Given the description of an element on the screen output the (x, y) to click on. 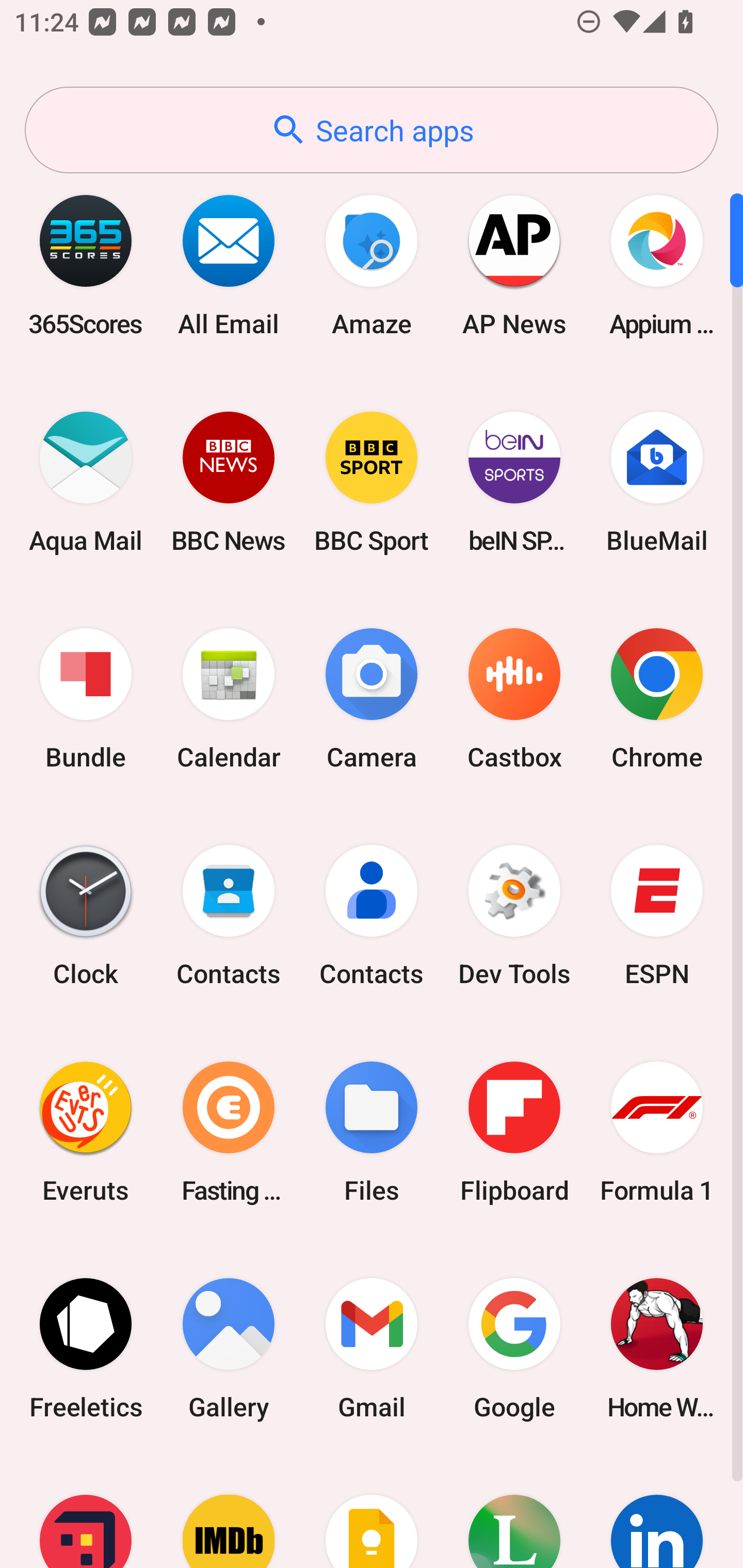
  Search apps (371, 130)
365Scores (85, 264)
All Email (228, 264)
Amaze (371, 264)
AP News (514, 264)
Appium Settings (656, 264)
Aqua Mail (85, 482)
BBC News (228, 482)
BBC Sport (371, 482)
beIN SPORTS (514, 482)
BlueMail (656, 482)
Bundle (85, 699)
Calendar (228, 699)
Camera (371, 699)
Castbox (514, 699)
Chrome (656, 699)
Clock (85, 915)
Contacts (228, 915)
Contacts (371, 915)
Dev Tools (514, 915)
ESPN (656, 915)
Everuts (85, 1131)
Fasting Coach (228, 1131)
Files (371, 1131)
Flipboard (514, 1131)
Formula 1 (656, 1131)
Freeletics (85, 1348)
Gallery (228, 1348)
Gmail (371, 1348)
Google (514, 1348)
Home Workout (656, 1348)
Hotels.com (85, 1512)
IMDb (228, 1512)
Keep Notes (371, 1512)
Lifesum (514, 1512)
LinkedIn (656, 1512)
